Given the description of an element on the screen output the (x, y) to click on. 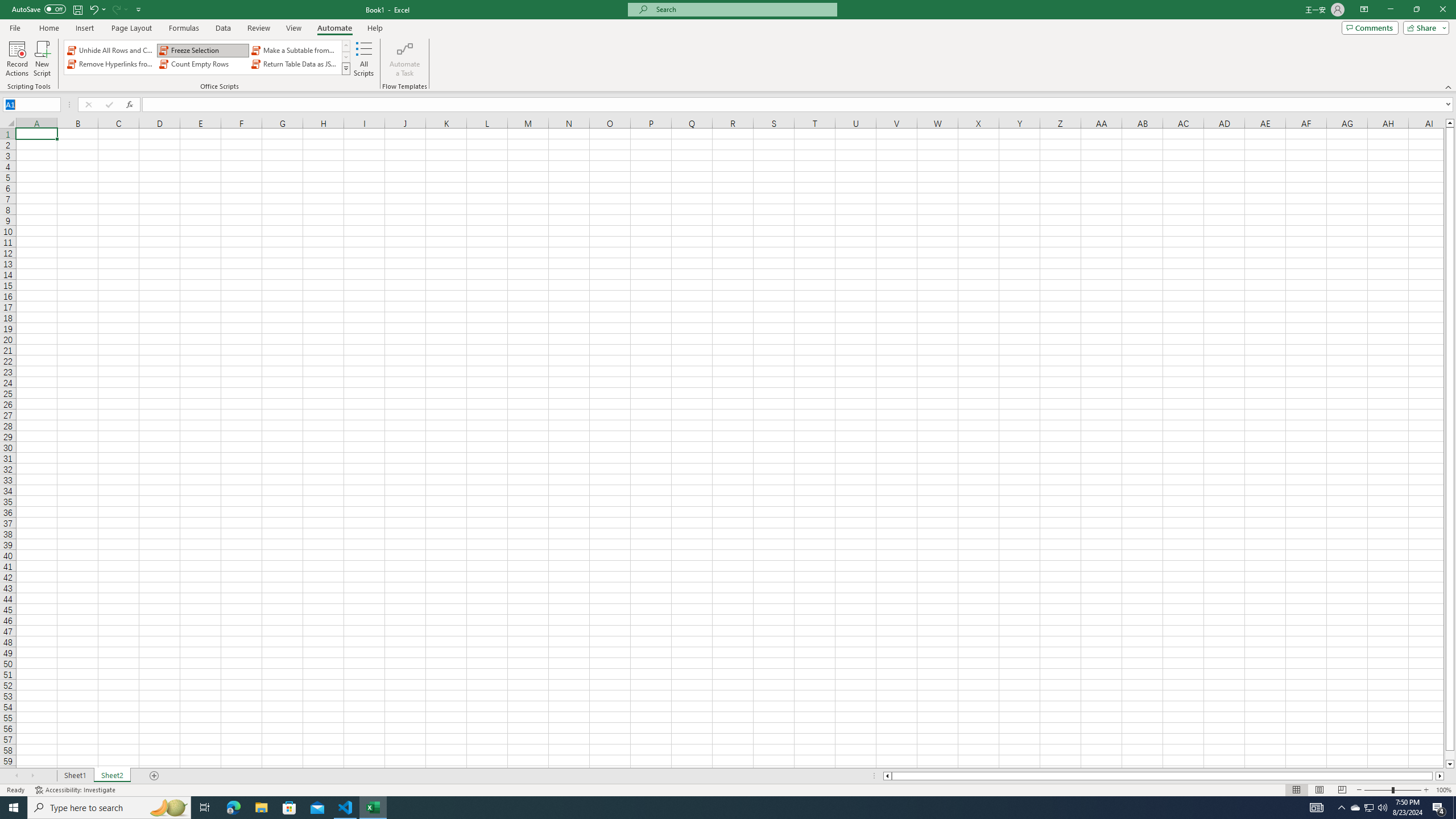
New Script (41, 58)
Record Actions (17, 58)
All Scripts (363, 58)
